Given the description of an element on the screen output the (x, y) to click on. 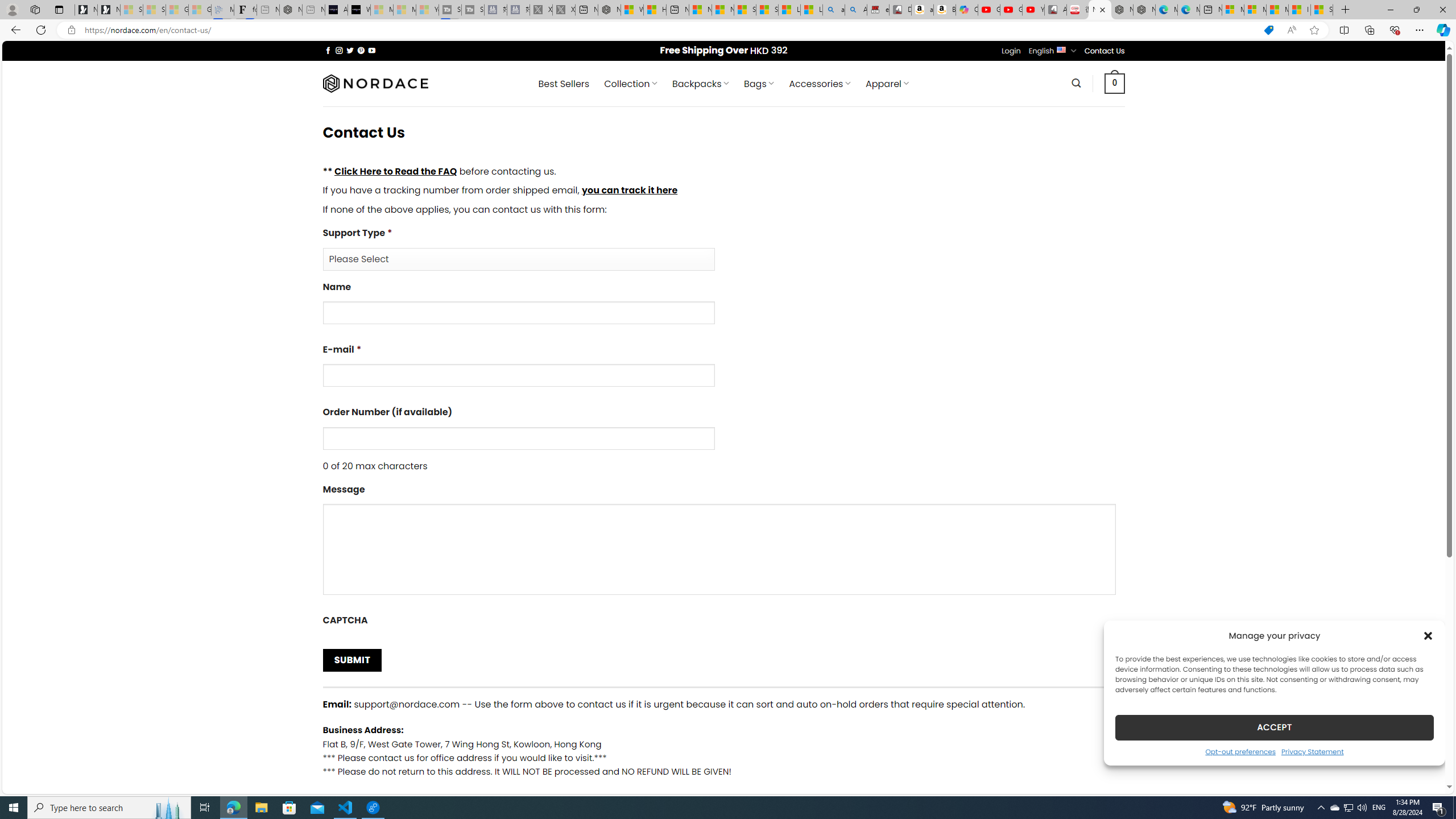
Minimize (1390, 9)
amazon - Search (834, 9)
Split screen (1344, 29)
Name (517, 312)
New Tab (1346, 9)
Login (1010, 50)
  0   (1115, 83)
Click Here to Read the FAQ (395, 170)
Copilot (Ctrl+Shift+.) (1442, 29)
Gloom - YouTube (1010, 9)
Nordace - Contact Us (1099, 9)
